Given the description of an element on the screen output the (x, y) to click on. 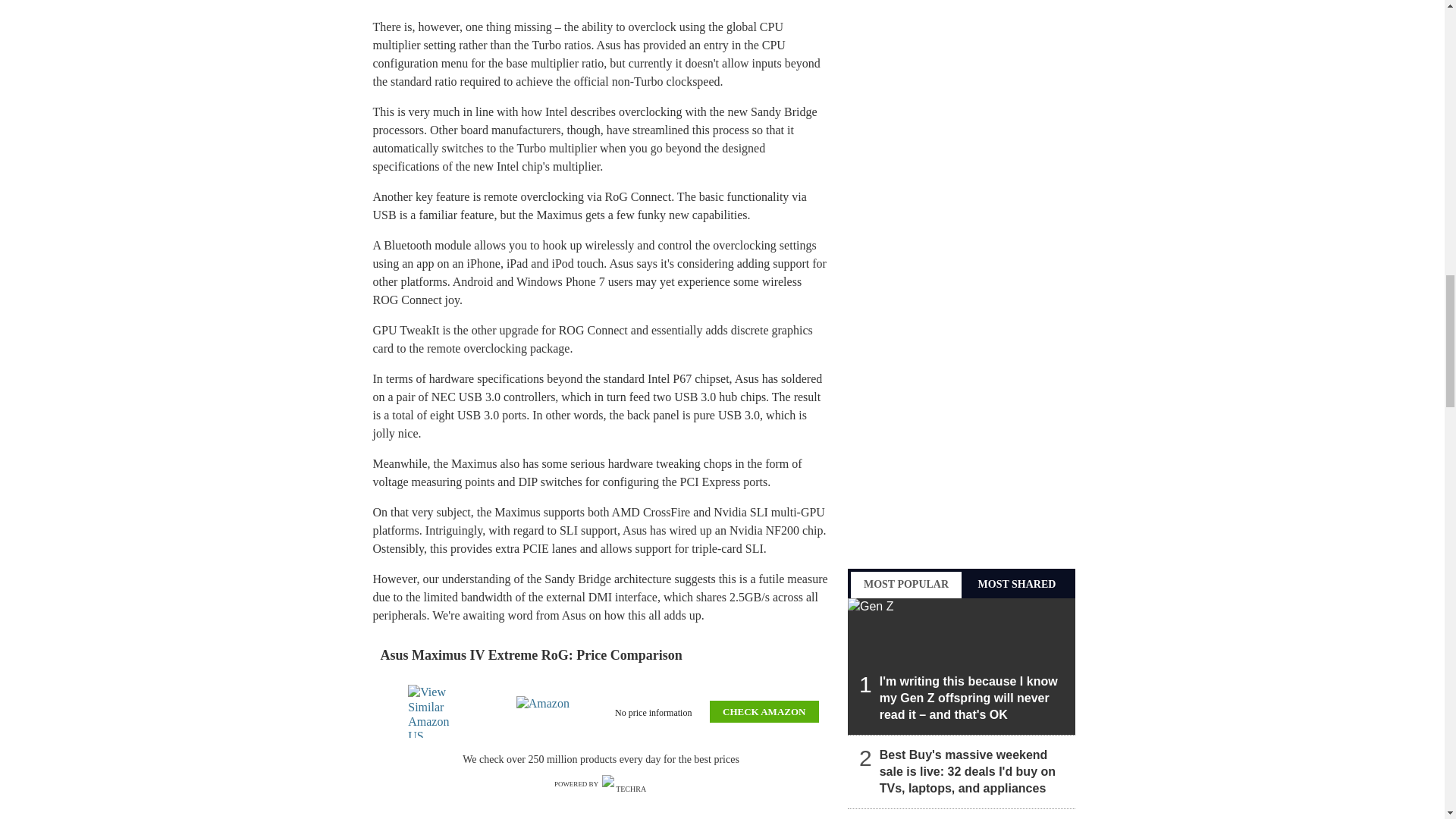
Amazon (546, 711)
Techradar (624, 783)
View Similar Amazon US (437, 710)
